Given the description of an element on the screen output the (x, y) to click on. 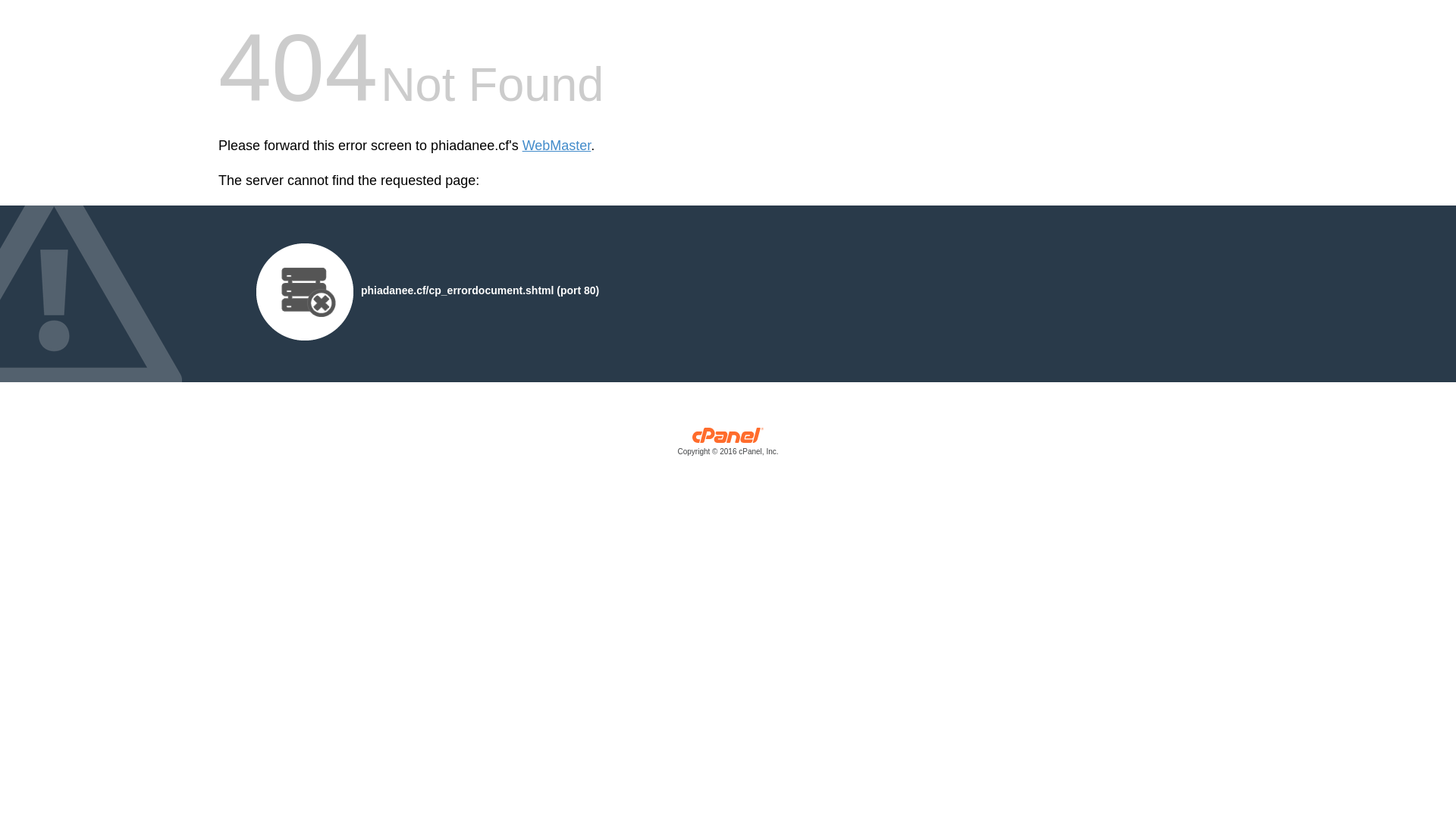
WebMaster Element type: text (556, 145)
